Given the description of an element on the screen output the (x, y) to click on. 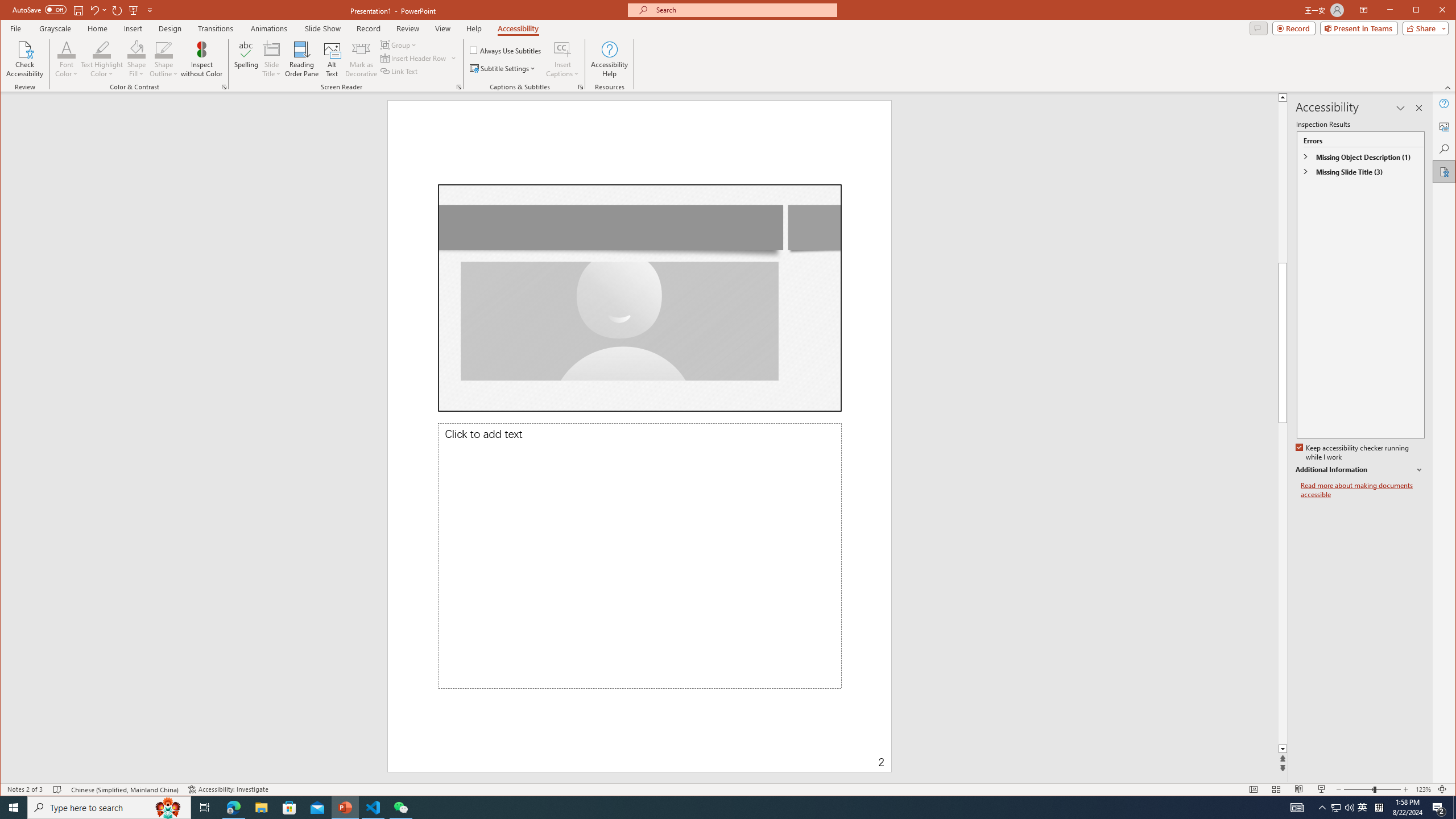
Zoom 123% (1422, 789)
Show desktop (1454, 807)
Action Center, 2 new notifications (1439, 807)
Grayscale (55, 28)
Additional Information (1360, 469)
Close pane (1418, 107)
Start (13, 807)
